Given the description of an element on the screen output the (x, y) to click on. 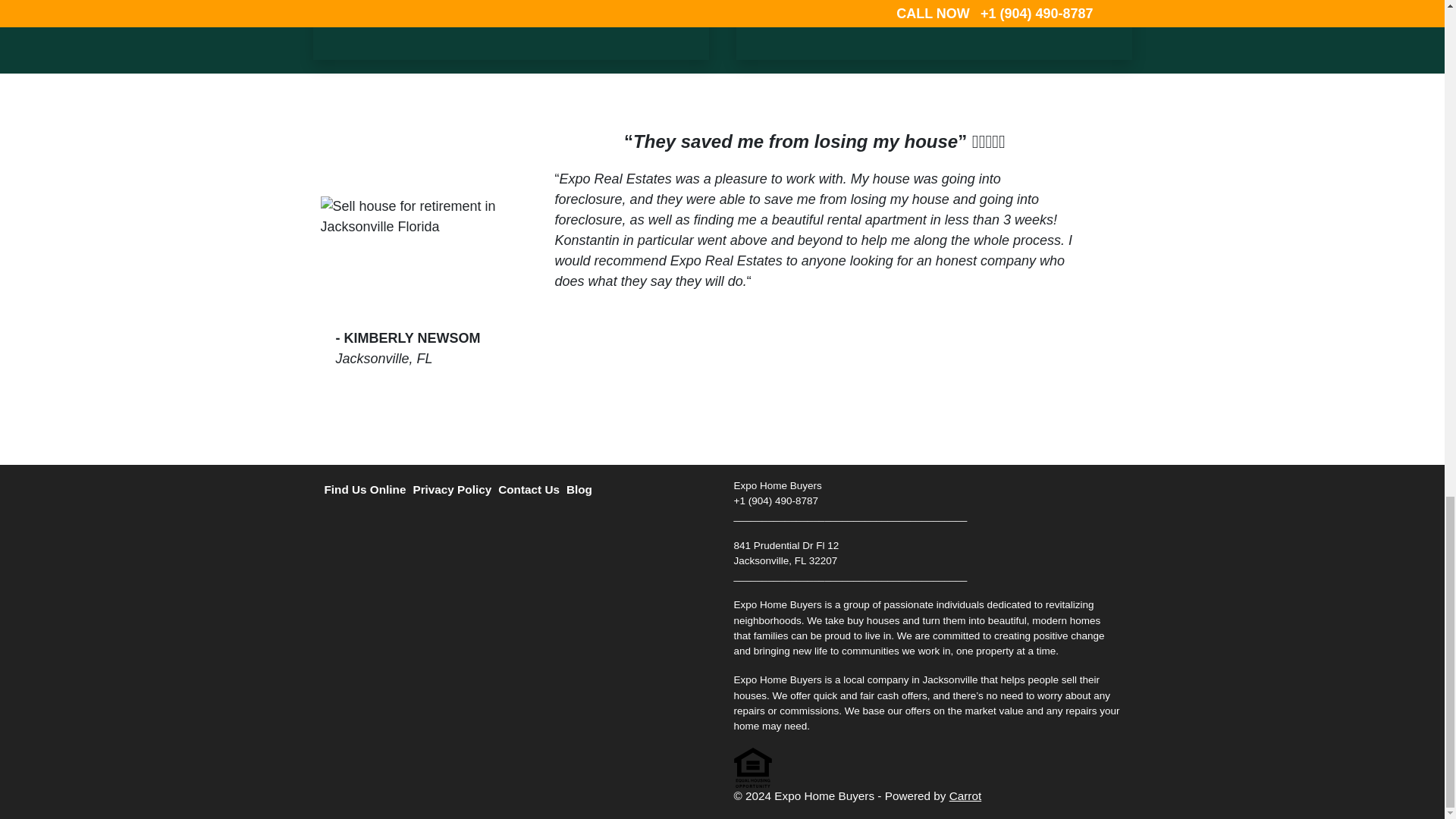
Twitter (333, 524)
Facebook (361, 524)
Carrot (965, 795)
Instagram (447, 524)
Blog (582, 489)
LinkedIn (418, 524)
Contact Us (531, 489)
Privacy Policy (454, 489)
Find Us Online (368, 489)
YouTube (389, 524)
